Given the description of an element on the screen output the (x, y) to click on. 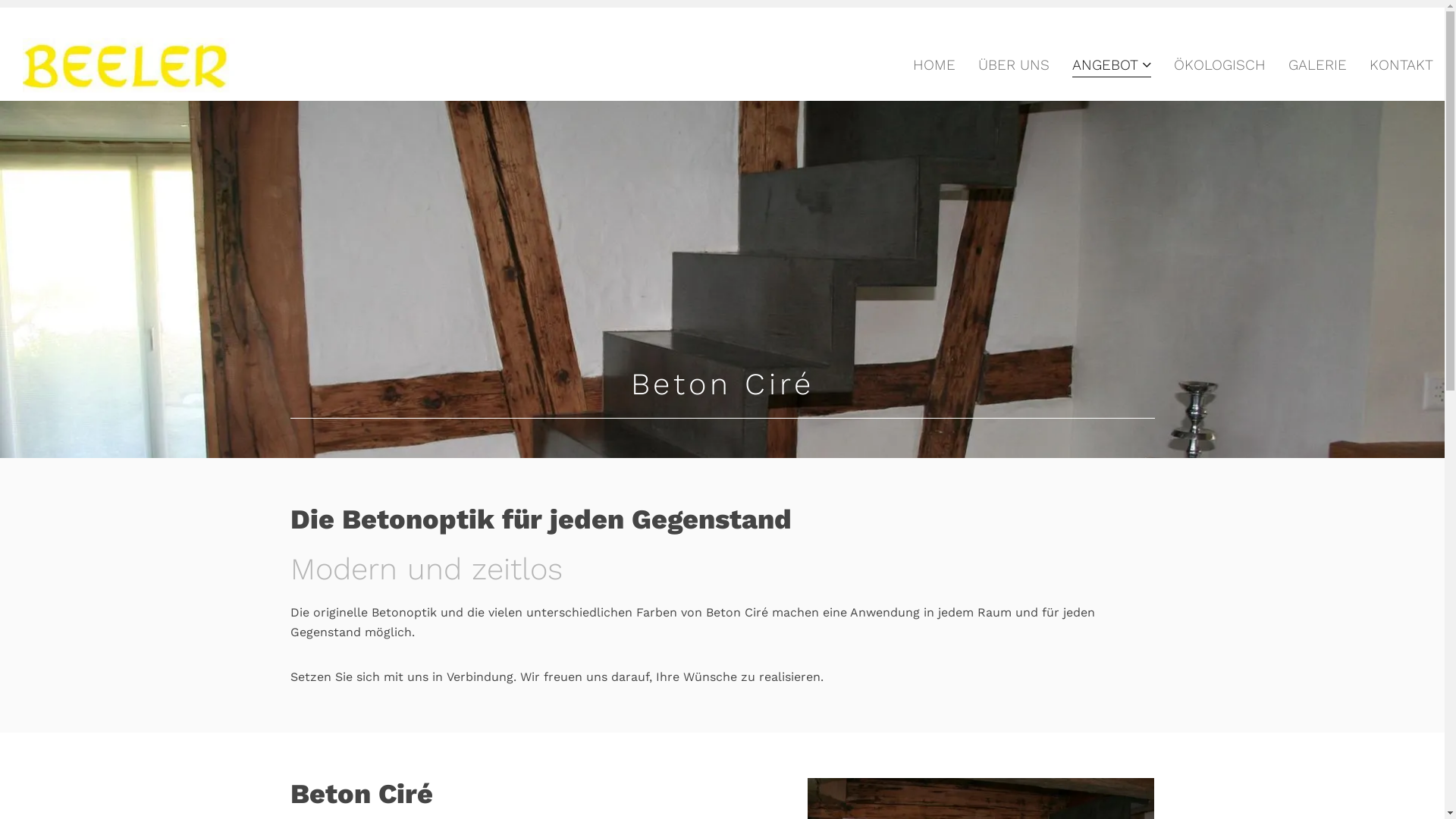
Verbindung Element type: text (478, 676)
KONTAKT Element type: text (1401, 64)
HOME Element type: text (934, 64)
GALERIE Element type: text (1317, 64)
ANGEBOT Element type: text (1111, 64)
